Given the description of an element on the screen output the (x, y) to click on. 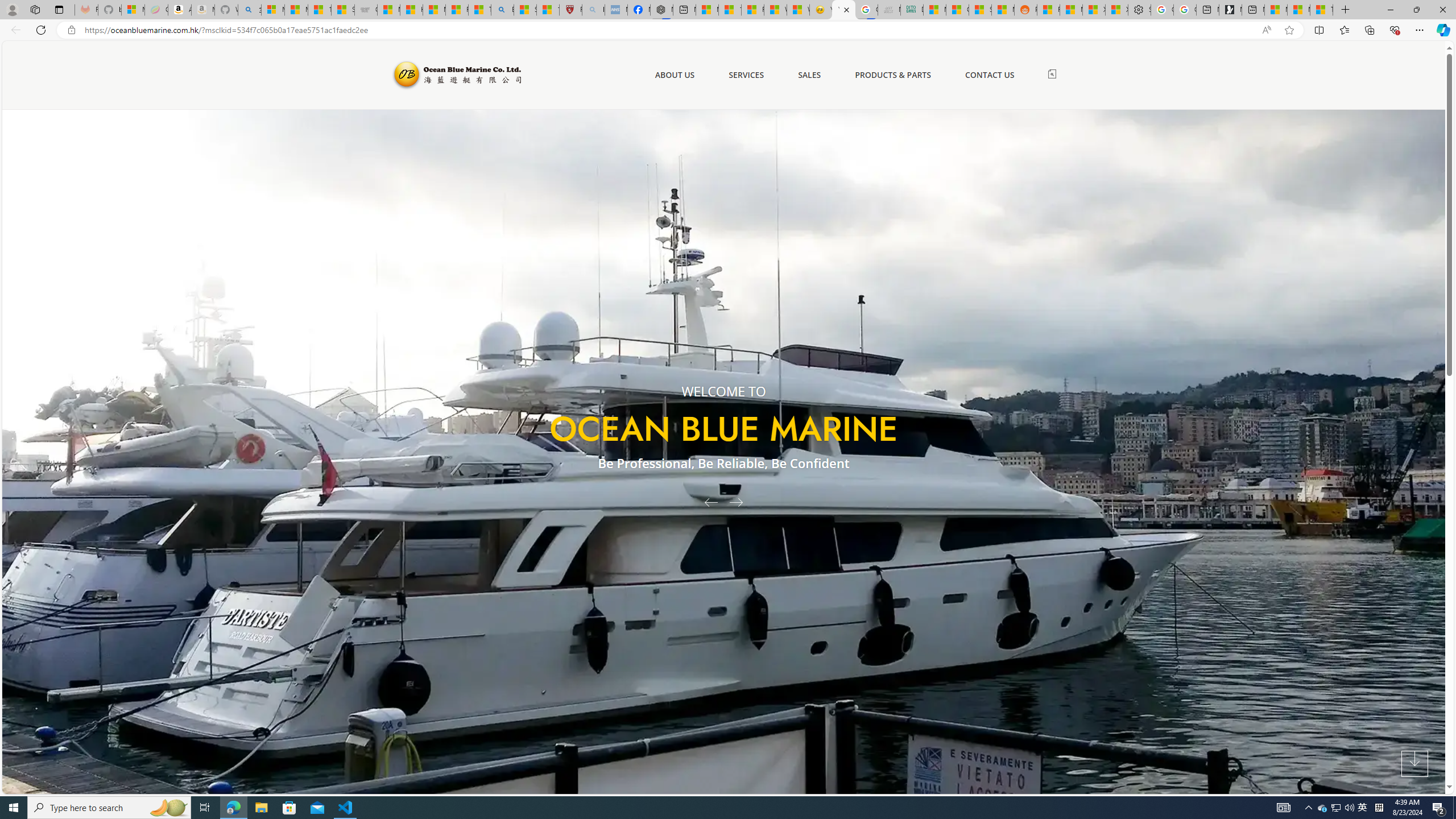
These 3 Stocks Pay You More Than 5% to Own Them (1321, 9)
Previous Slide (706, 501)
Next Slide (740, 501)
ABOUT US (674, 75)
SERVICES (746, 75)
